Given the description of an element on the screen output the (x, y) to click on. 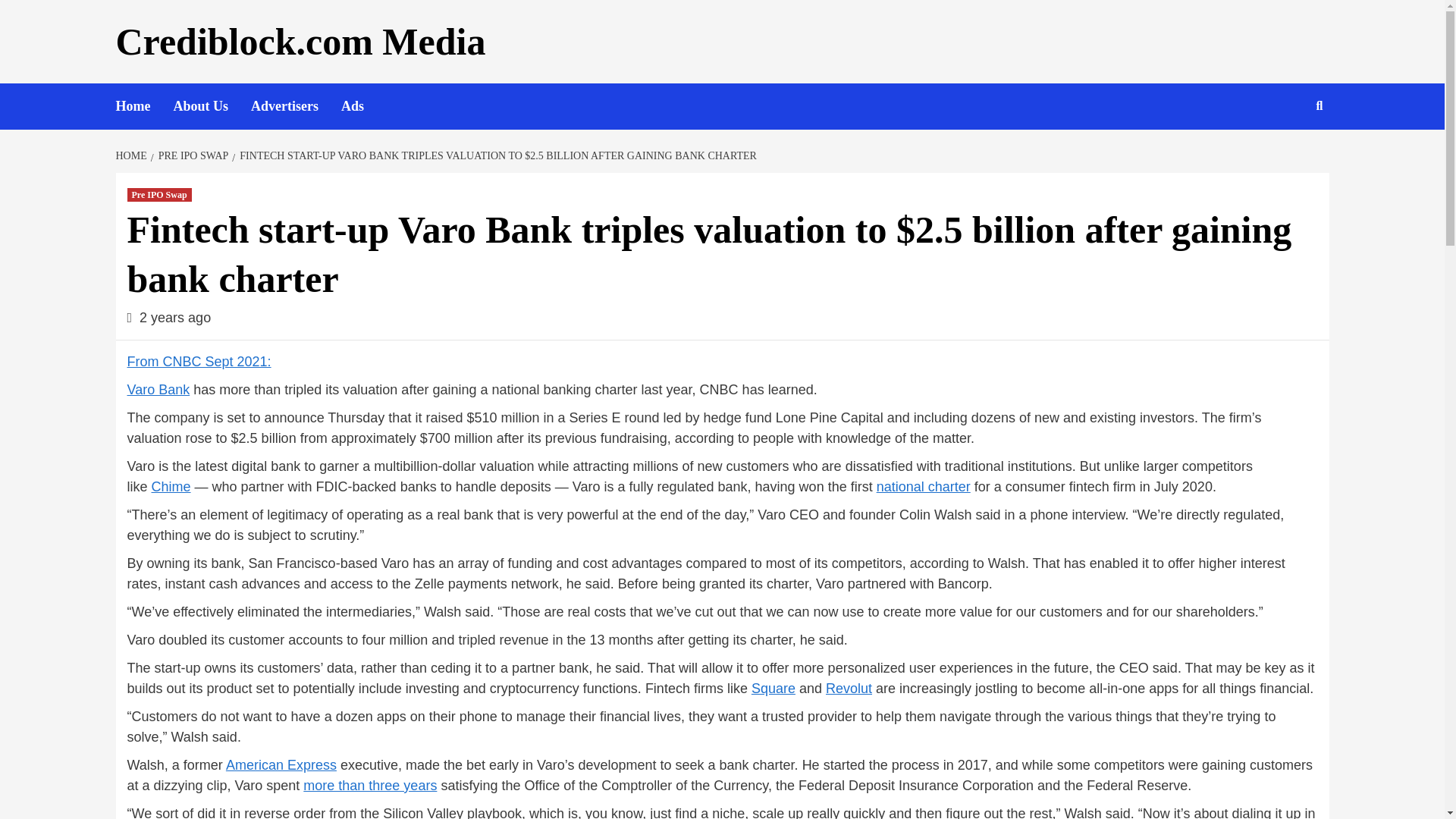
Chime (170, 486)
Advertisers (295, 106)
From CNBC Sept 2021: (199, 361)
Ads (363, 106)
Pre IPO Swap (160, 194)
PRE IPO SWAP (191, 155)
Varo Bank (159, 389)
Crediblock.com Media (299, 41)
more than three years (369, 785)
About Us (211, 106)
American Express (280, 765)
HOME (132, 155)
Home (144, 106)
Square (772, 688)
Search (1283, 154)
